Given the description of an element on the screen output the (x, y) to click on. 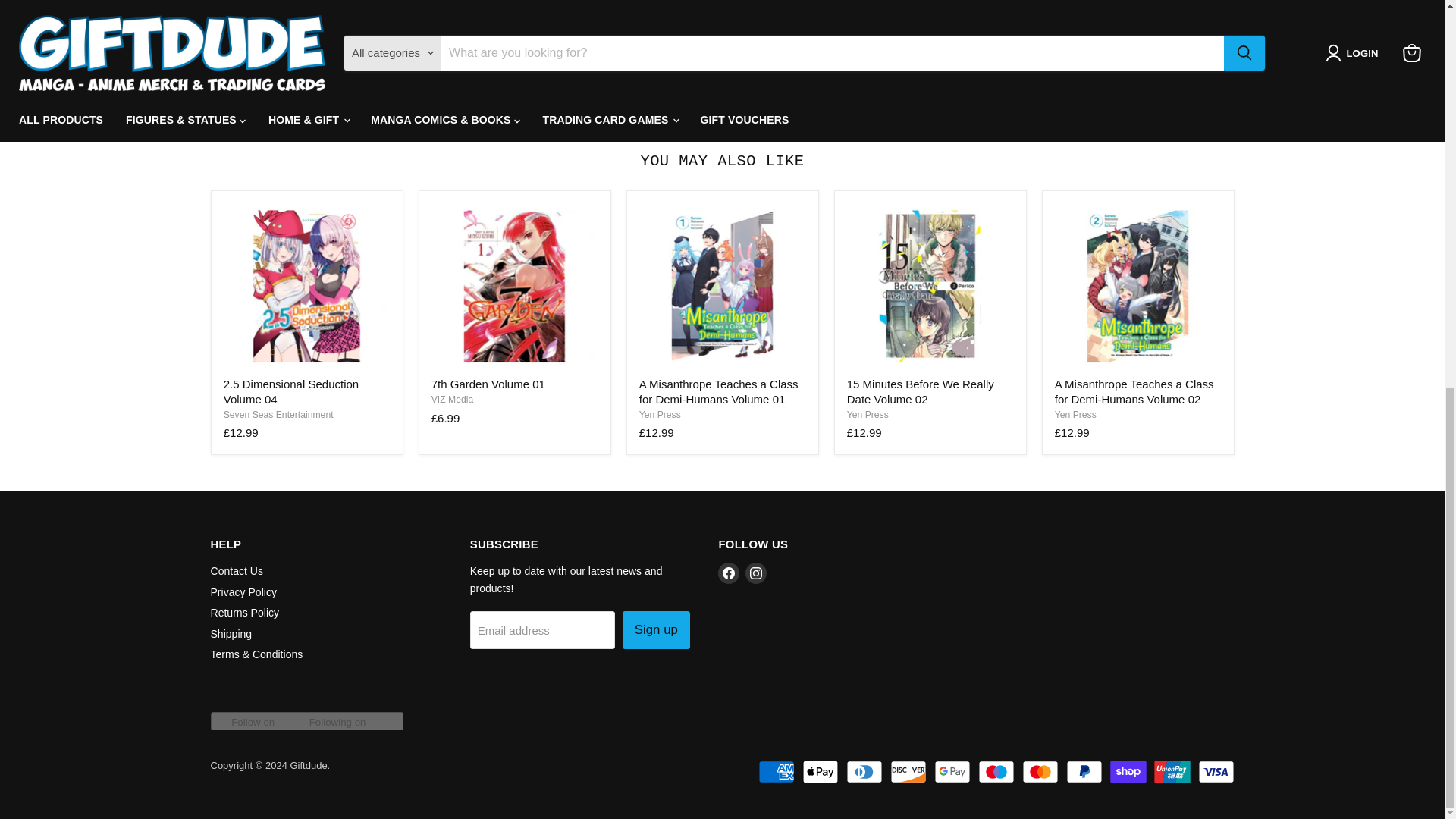
VIZ Media (451, 398)
Seven Seas Entertainment (278, 414)
Instagram (756, 572)
Yen Press (660, 414)
Facebook (728, 572)
Yen Press (867, 414)
Yen Press (1075, 414)
